Given the description of an element on the screen output the (x, y) to click on. 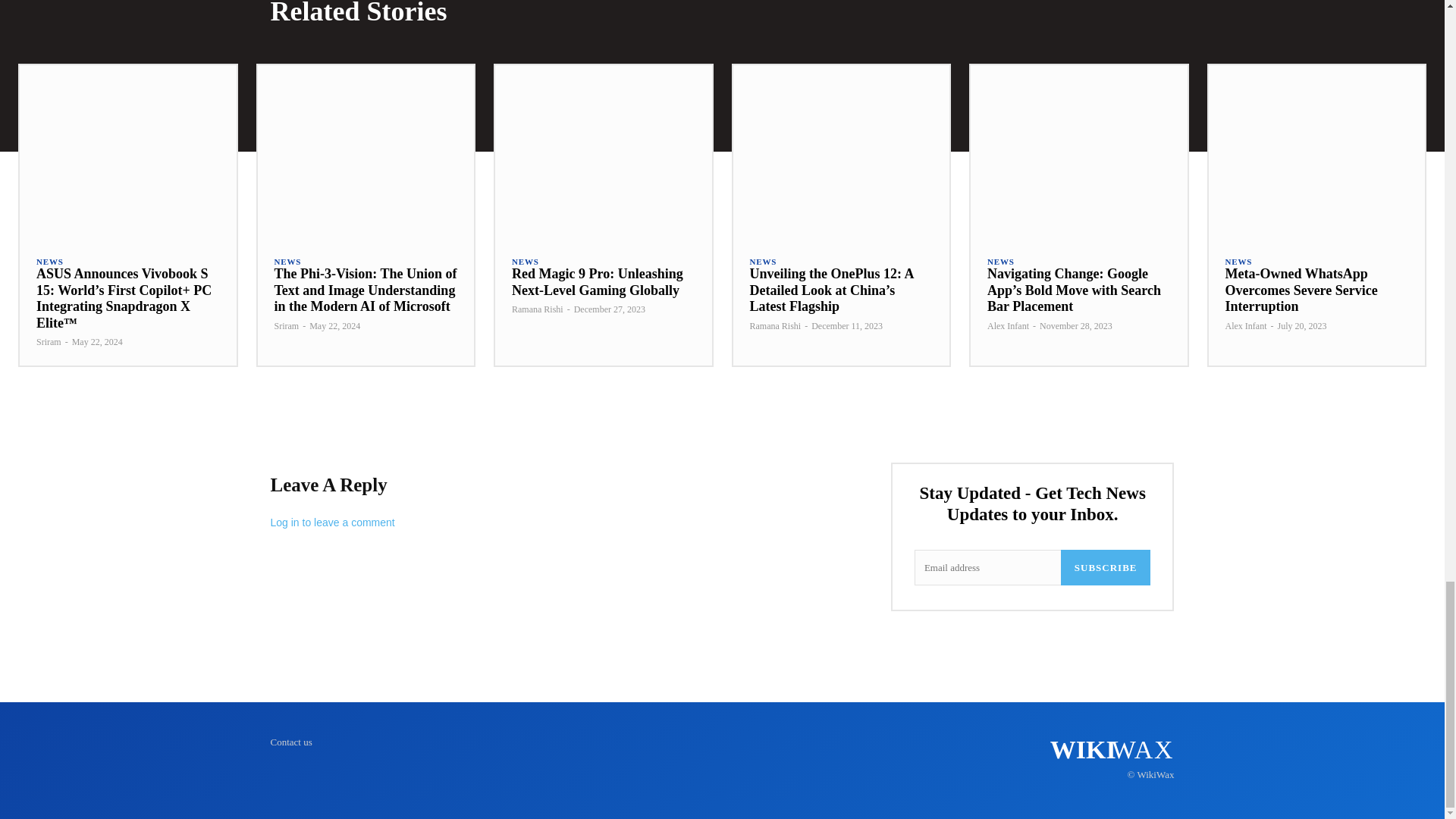
Red Magic 9 Pro: Unleashing Next-Level Gaming Globally (603, 151)
Meta-Owned WhatsApp Overcomes Severe Service Interruption (1316, 151)
Red Magic 9 Pro: Unleashing Next-Level Gaming Globally (597, 282)
Meta-Owned WhatsApp Overcomes Severe Service Interruption (1301, 289)
